Given the description of an element on the screen output the (x, y) to click on. 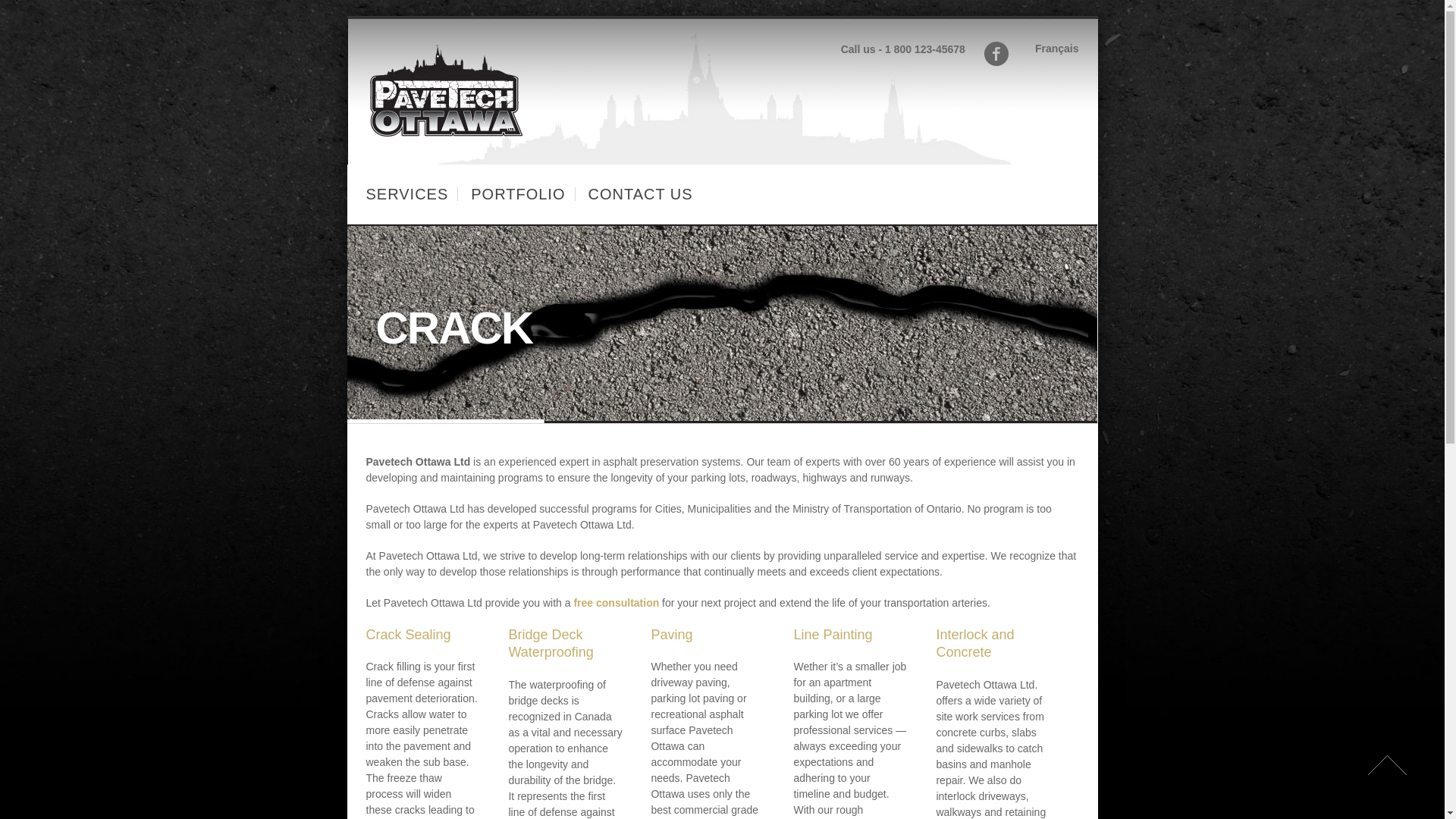
free consultation (616, 603)
CONTACT US (640, 193)
SERVICES (406, 193)
Contact us (616, 603)
PORTFOLIO (517, 193)
PaveTech Ottawa (445, 136)
Facebook (996, 53)
